Given the description of an element on the screen output the (x, y) to click on. 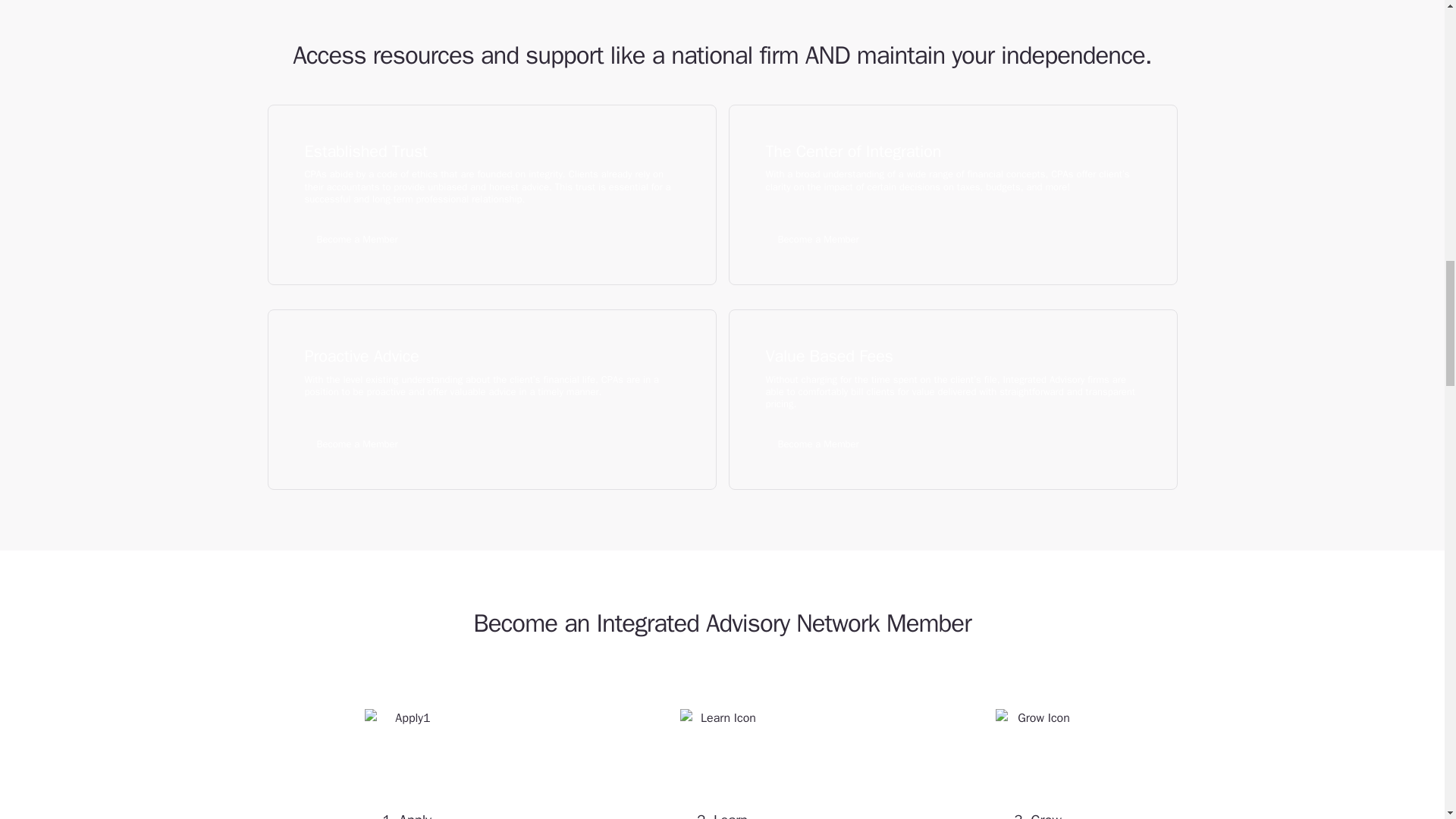
Become a Member (817, 238)
Become a Member (817, 443)
Become a Member (357, 238)
Become a Member (357, 443)
